Given the description of an element on the screen output the (x, y) to click on. 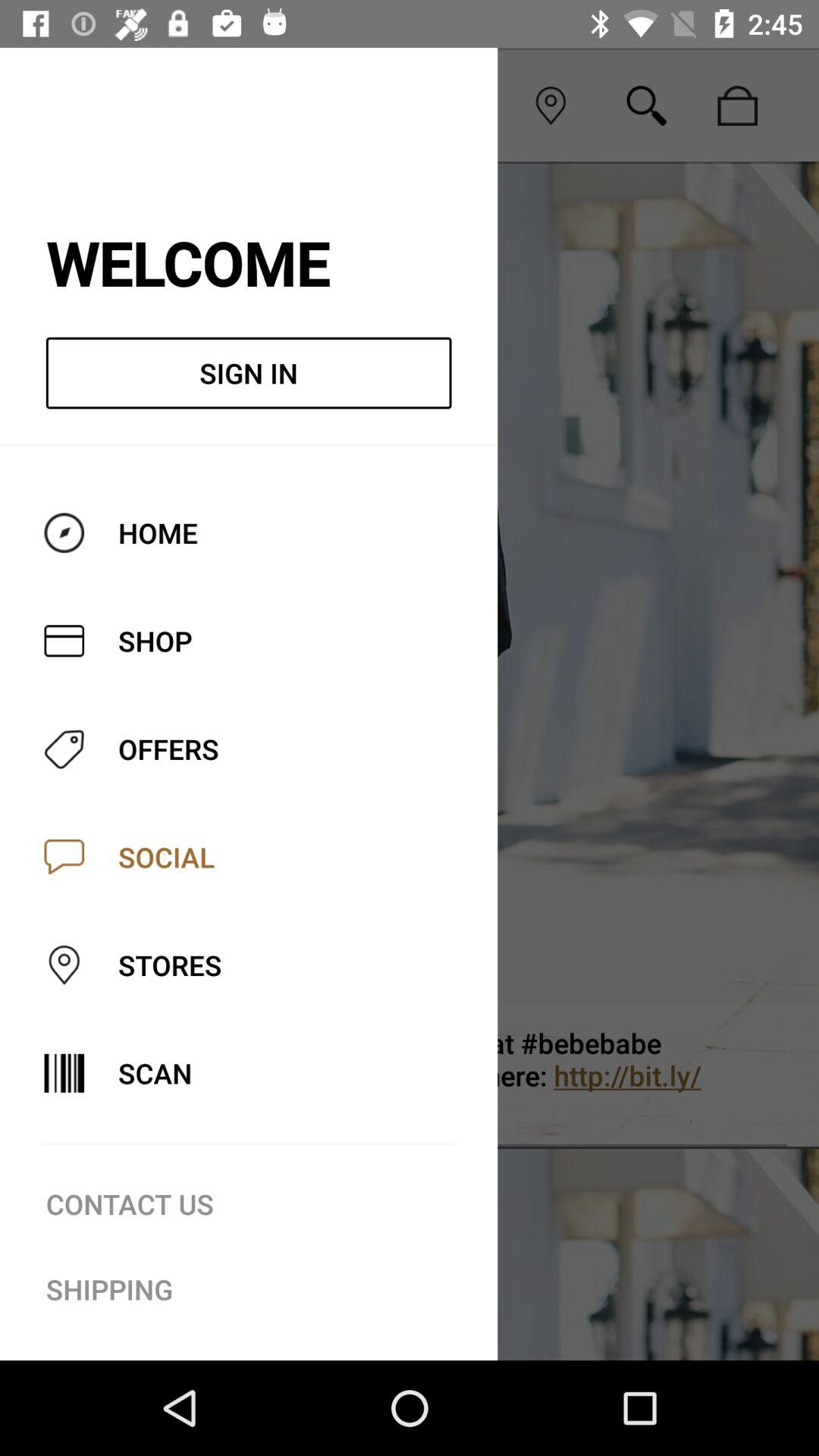
tap embroidered bomber on item (472, 1075)
